Given the description of an element on the screen output the (x, y) to click on. 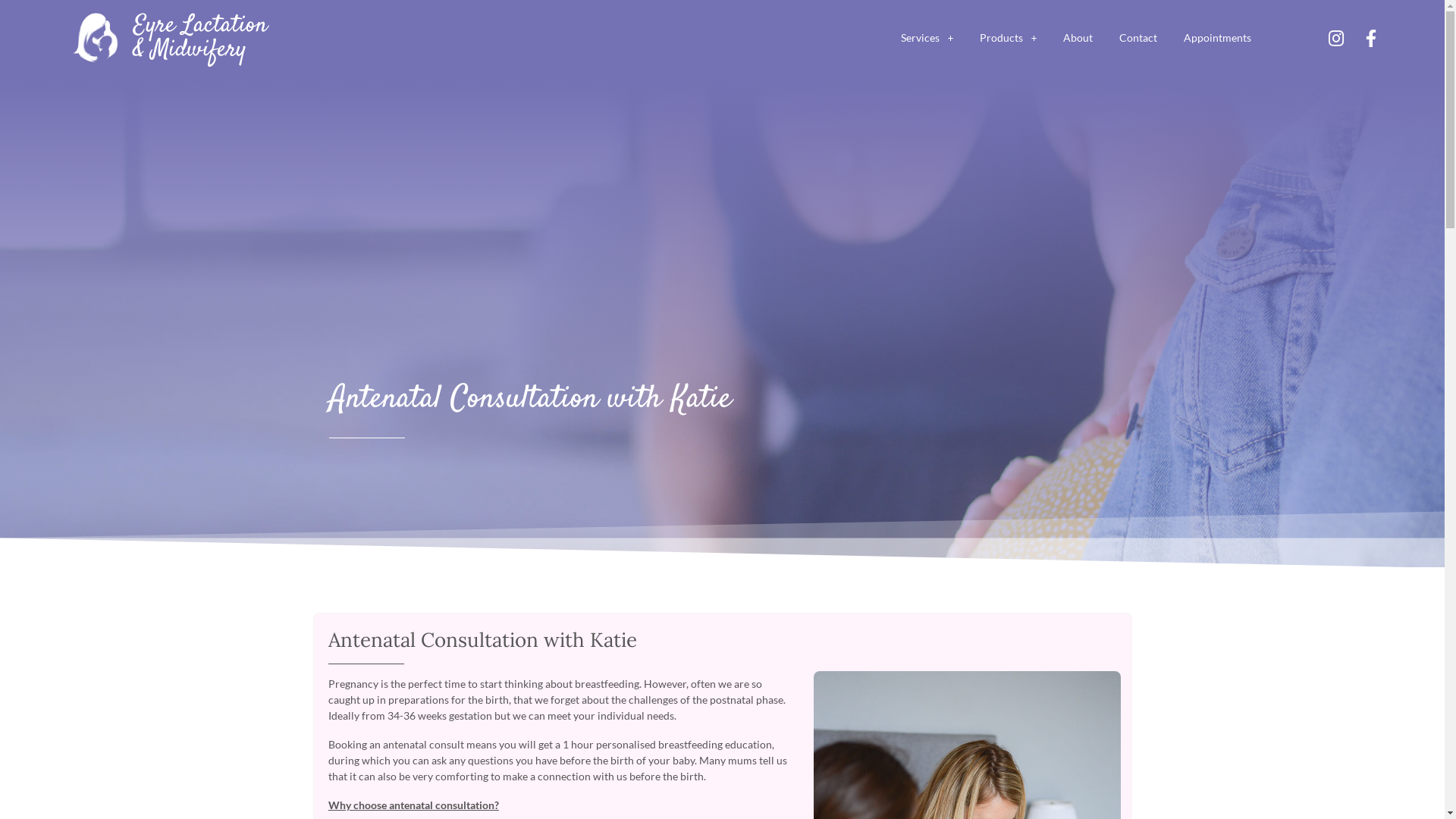
Products Element type: text (1008, 37)
About Element type: text (1077, 37)
Contact Element type: text (1137, 37)
Appointments Element type: text (1217, 37)
Services Element type: text (926, 37)
Eyre Lactation
& Midwifery Element type: text (200, 37)
